Given the description of an element on the screen output the (x, y) to click on. 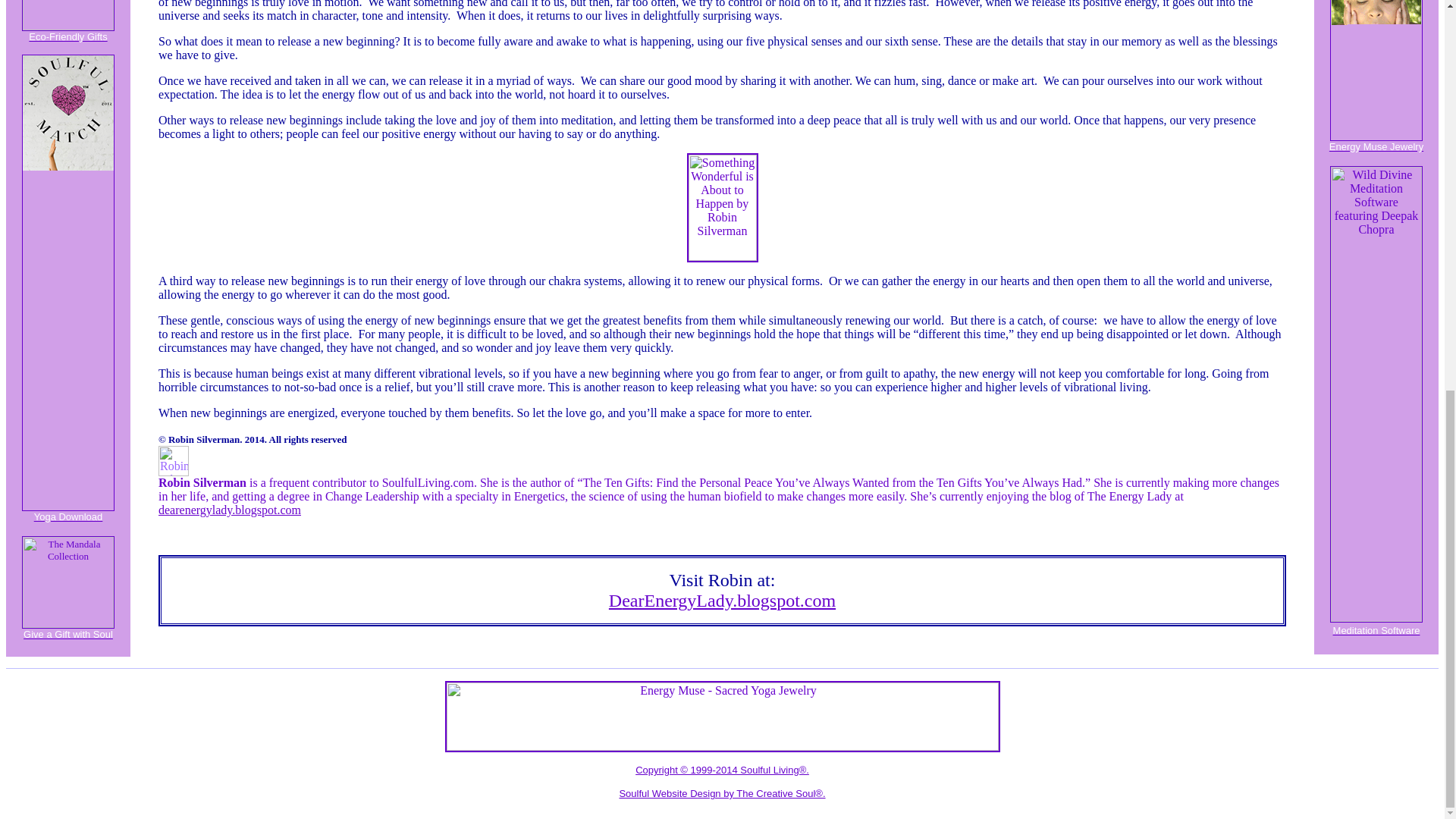
Give a Gift with Soul (68, 629)
dearenergylady.blogspot.com (229, 509)
Eco-Friendly Gifts (68, 31)
Yoga Download (68, 512)
Meditation Software (1377, 635)
earEnergyLady.blogspot.com (728, 600)
Energy Muse Jewelry (1376, 141)
